Given the description of an element on the screen output the (x, y) to click on. 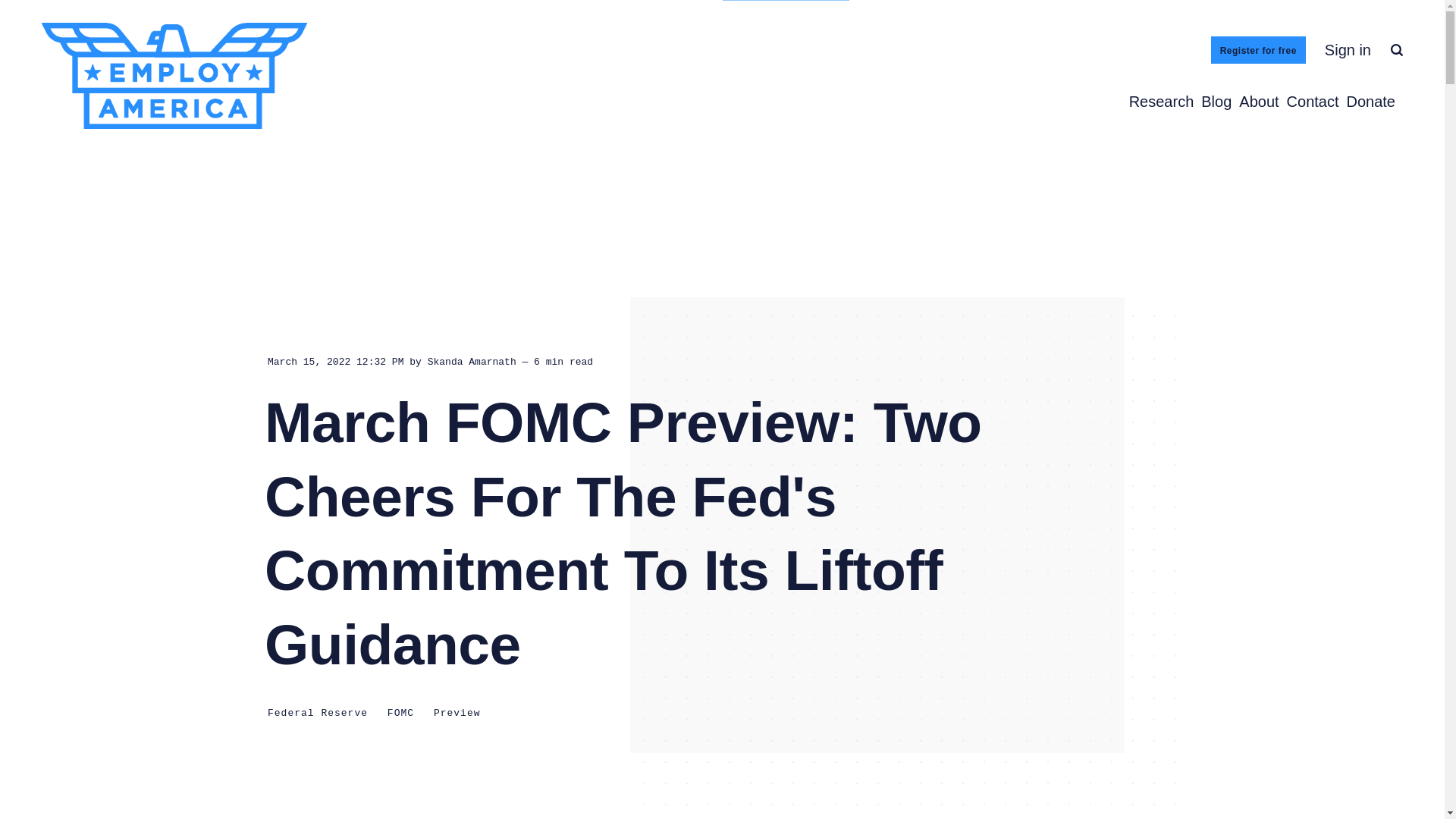
About (1258, 101)
Contact (1313, 101)
Sign in (1347, 49)
Federal Reserve (316, 719)
Research (1161, 101)
Blog (1216, 101)
Donate (1371, 101)
Preview (456, 717)
Skanda Amarnath (470, 369)
